Given the description of an element on the screen output the (x, y) to click on. 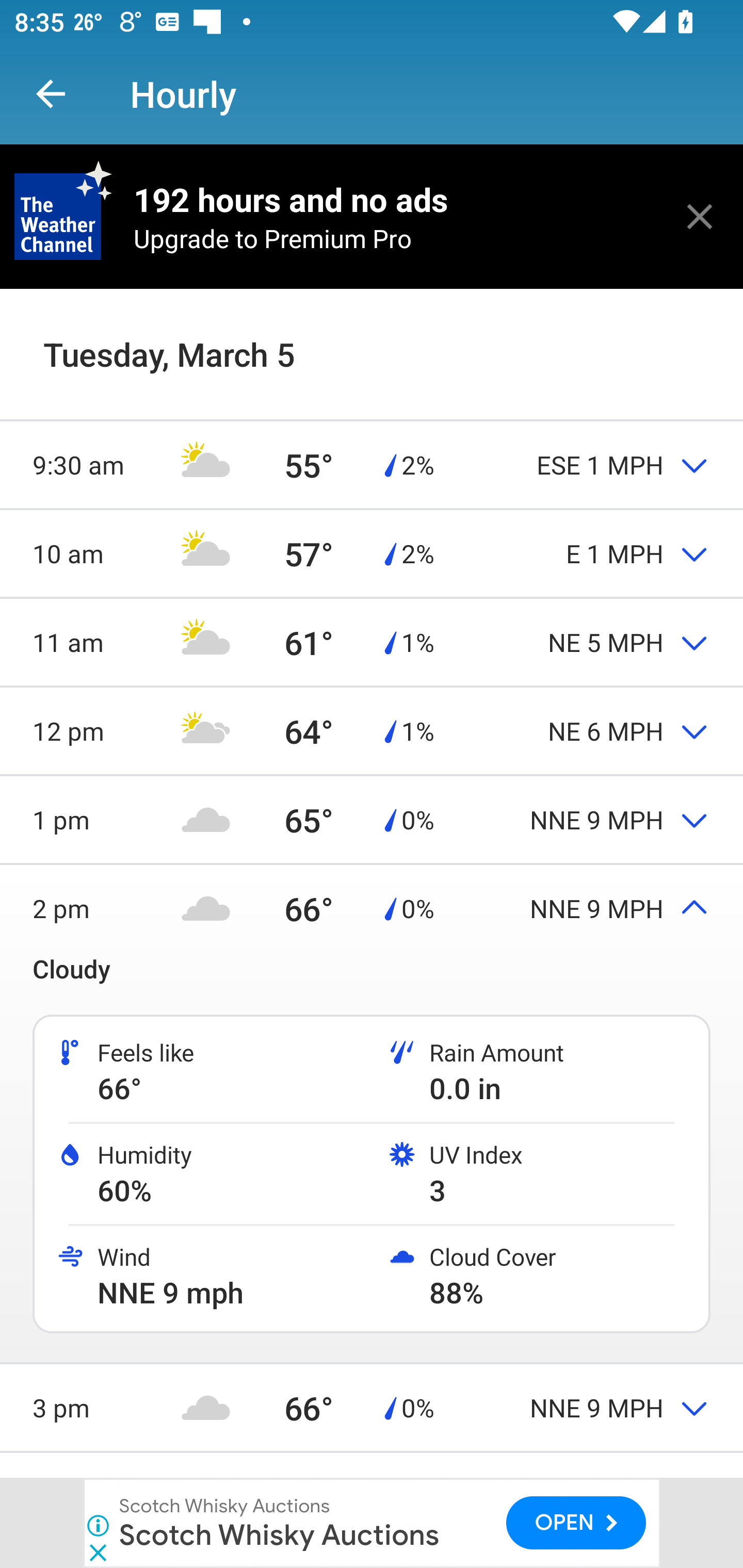
Navigate up (50, 93)
close this (699, 216)
9:30 am 55° 2% ESE 1 MPH (371, 464)
10 am 57° 2% E 1 MPH (371, 553)
11 am 61° 1% NE 5 MPH (371, 641)
12 pm 64° 1% NE 6 MPH (371, 730)
1 pm 65° 0% NNE 9 MPH (371, 819)
2 pm 66° 0% NNE 9 MPH (371, 908)
3 pm 66° 0% NNE 9 MPH (371, 1407)
Scotch Whisky Auctions (225, 1505)
OPEN (576, 1522)
Scotch Whisky Auctions (278, 1533)
